Given the description of an element on the screen output the (x, y) to click on. 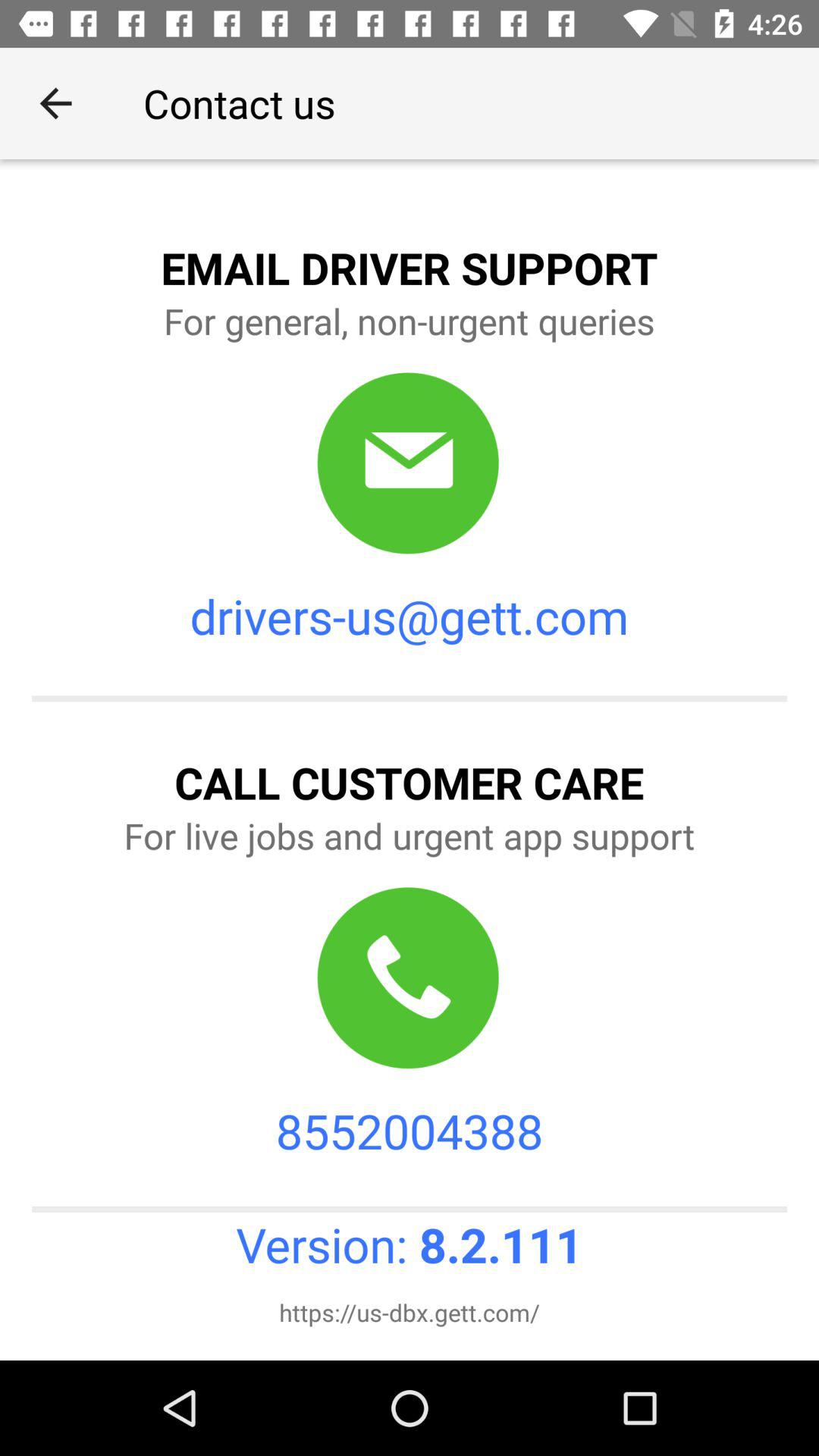
tap item to the left of contact us (55, 103)
